Given the description of an element on the screen output the (x, y) to click on. 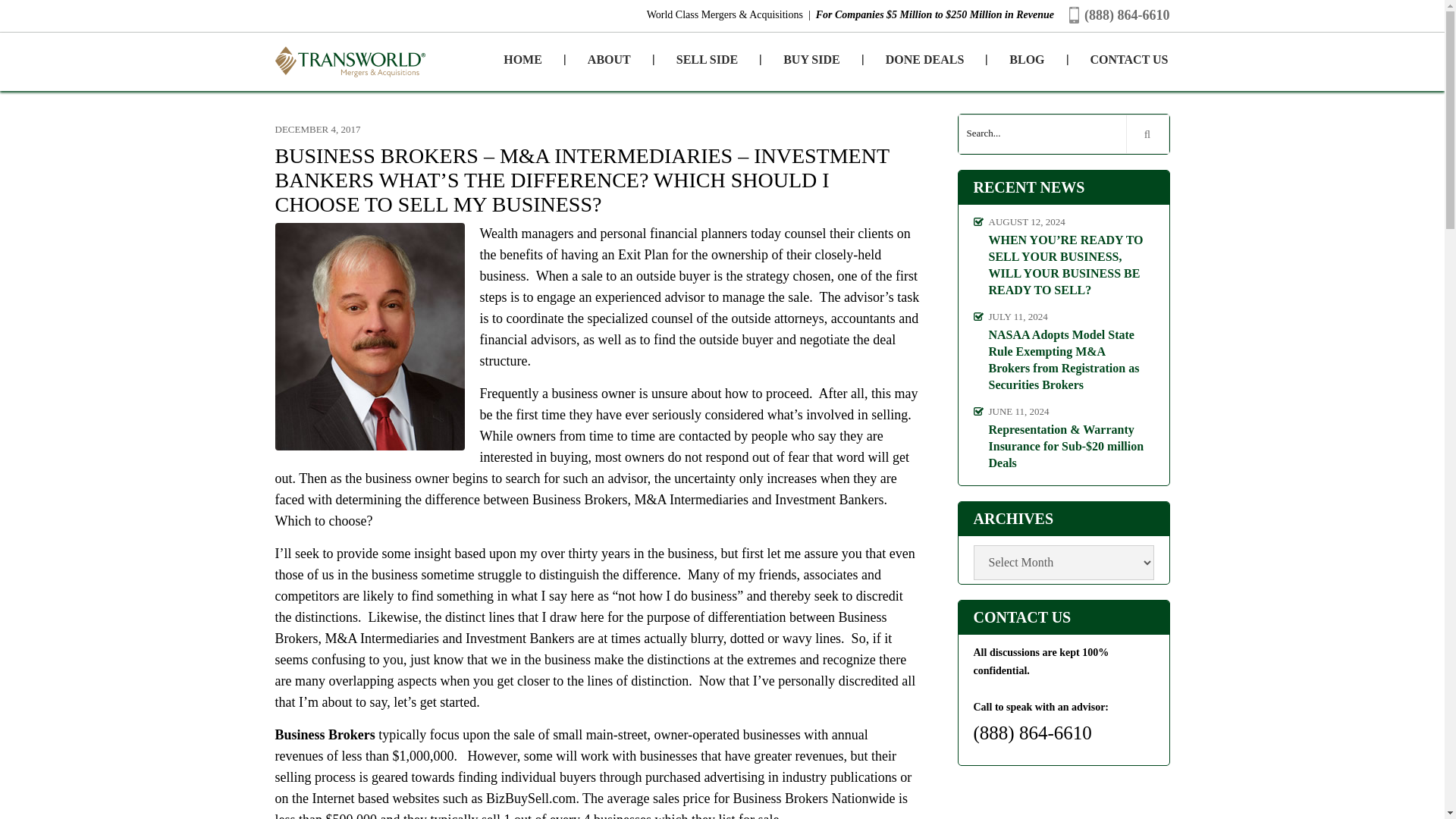
SELL SIDE (706, 60)
BLOG (1026, 60)
CONTACT US (1118, 60)
HOME (522, 60)
ABOUT (609, 60)
DONE DEALS (925, 60)
BUY SIDE (811, 60)
